Given the description of an element on the screen output the (x, y) to click on. 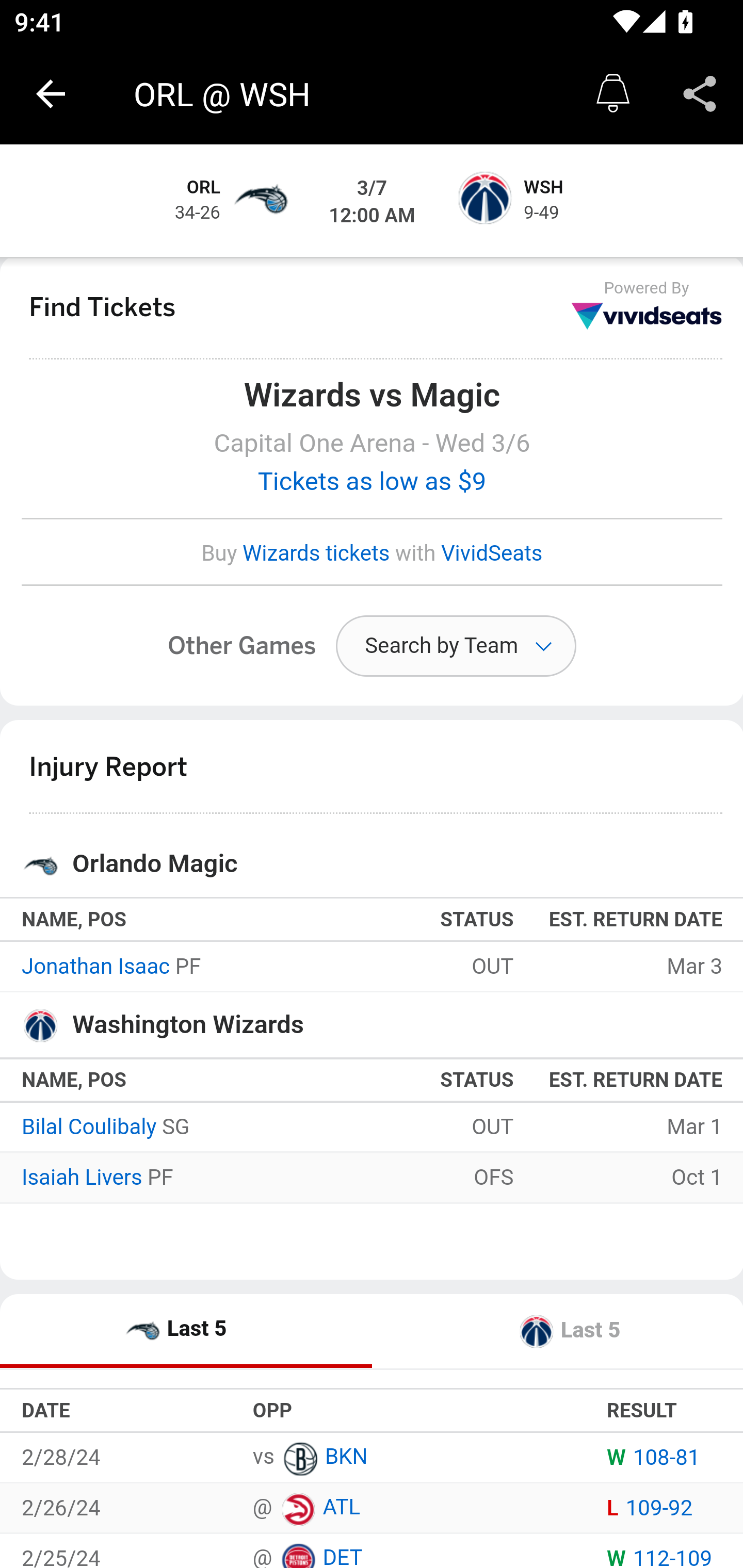
Navigate up (50, 93)
Alerts í (612, 93)
Share (699, 93)
Orlando Magic (260, 201)
Washington Wizards (483, 201)
ORL (203, 187)
WSH (543, 187)
Powered By VividSeats Powered By VividSeats (646, 305)
Tickets as low as $9 (372, 481)
Wizards tickets (316, 553)
VividSeats (491, 553)
Search by Team (455, 645)
Jonathan Isaac (96, 966)
Bilal Coulibaly (88, 1127)
Isaiah Livers (81, 1177)
Last 5 (186, 1331)
Last 5 (557, 1331)
vsBKN vs BKN (309, 1457)
W108-81 W 108-81 (653, 1457)
@ATL @ ATL (306, 1508)
L109-92 L 109-92 (650, 1507)
@DET @ DET (306, 1553)
W112-109 W 112-109 (660, 1557)
